Given the description of an element on the screen output the (x, y) to click on. 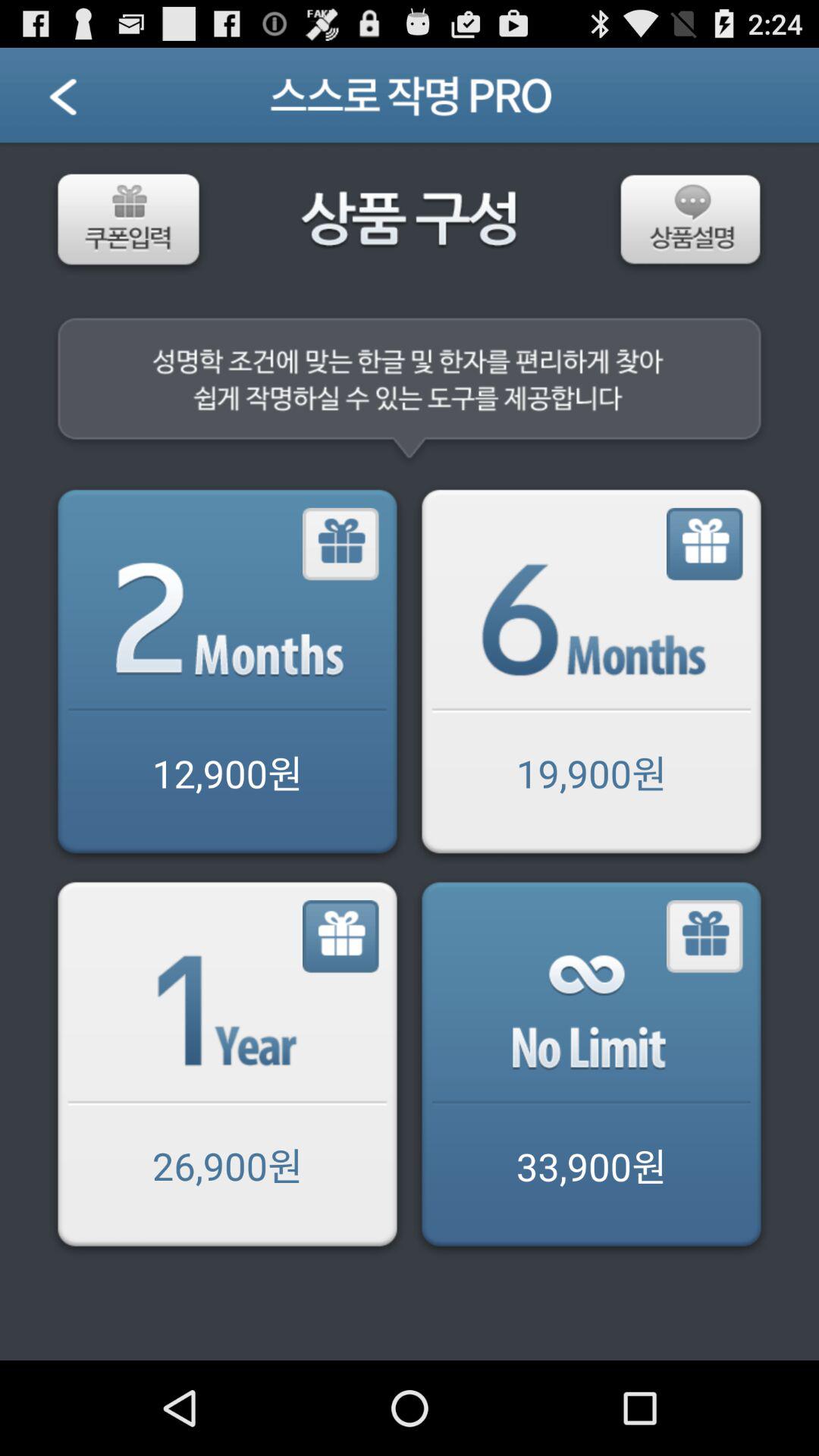
view blink gift (704, 936)
